Given the description of an element on the screen output the (x, y) to click on. 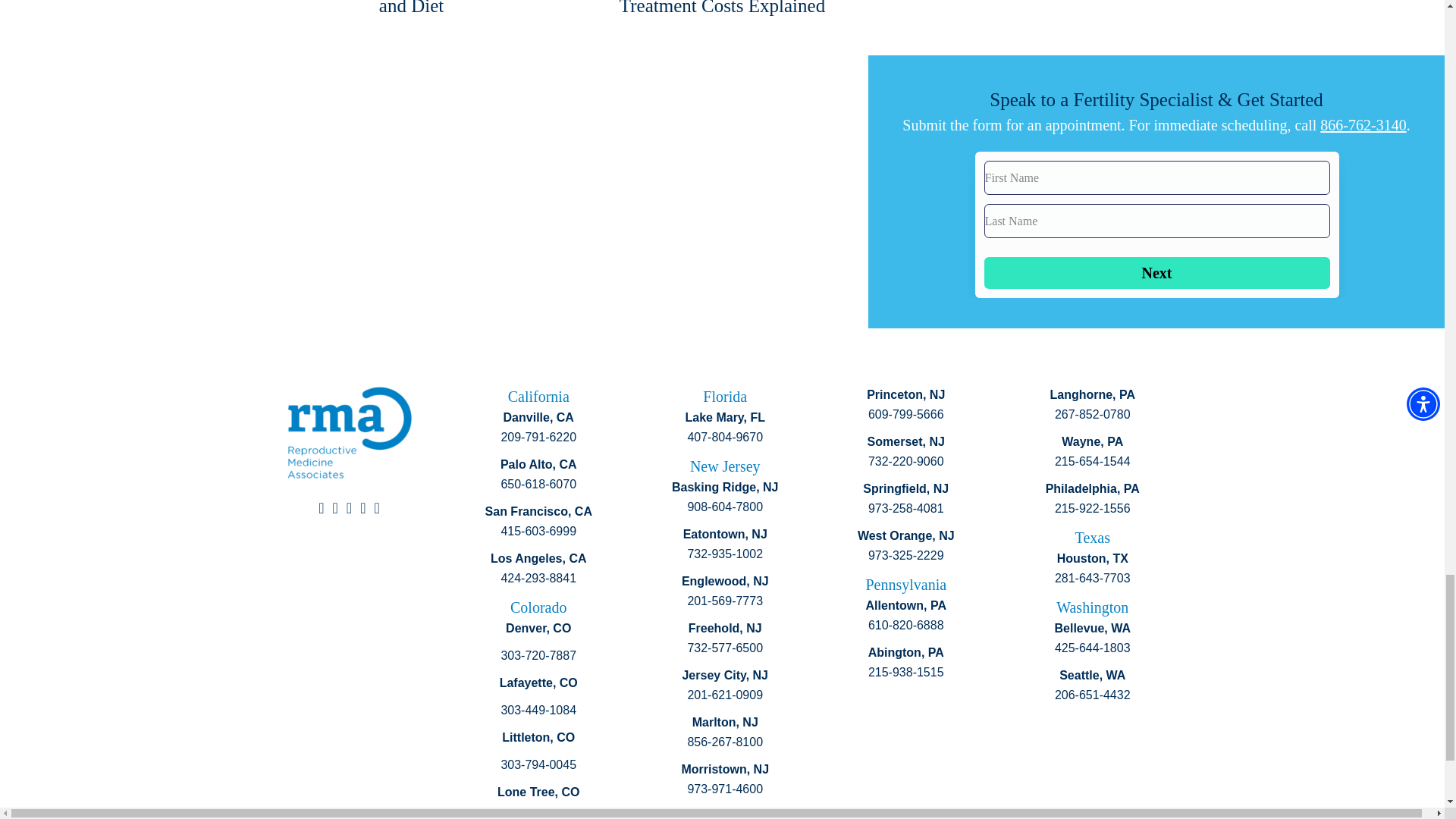
form-123formbuilder (1156, 224)
